Given the description of an element on the screen output the (x, y) to click on. 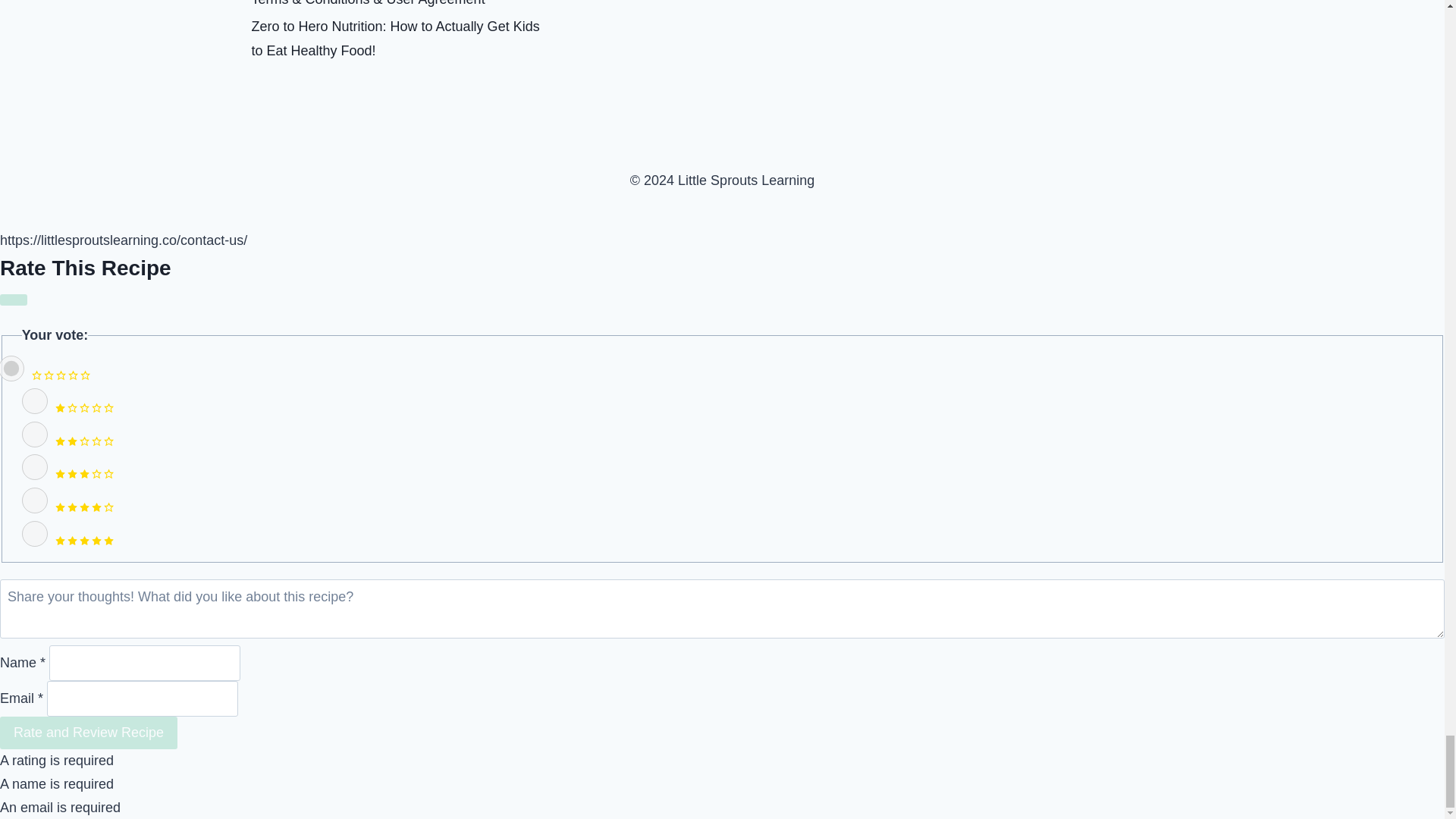
2 (34, 434)
3 (34, 466)
1 (34, 401)
0 (12, 368)
4 (34, 500)
5 (34, 533)
